Given the description of an element on the screen output the (x, y) to click on. 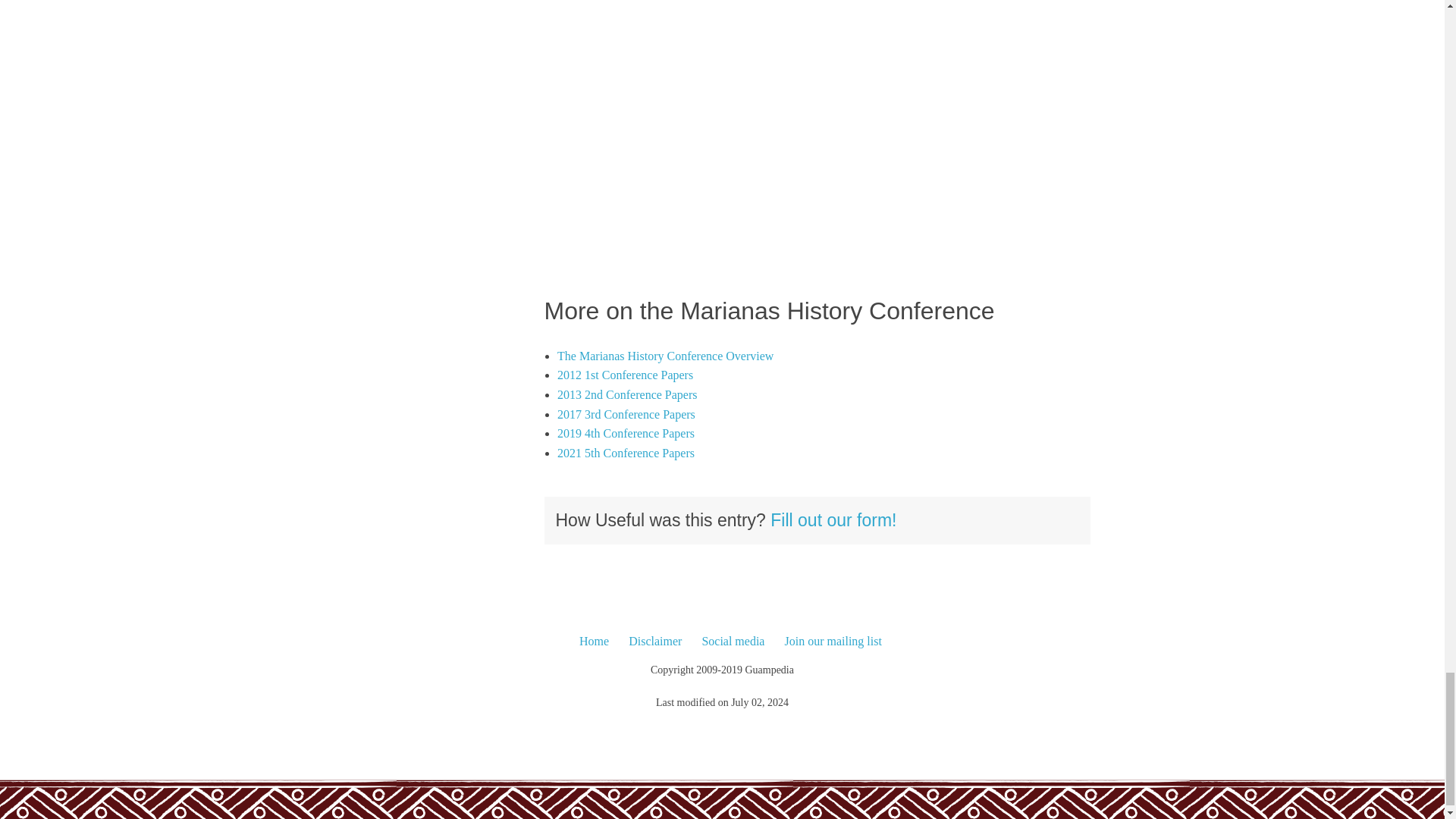
The Marianas History Conference Overview (665, 355)
Home (593, 641)
Join our mailing list (832, 641)
2017 3rd Conference Papers (626, 413)
Social media (732, 641)
2021 5th Conference Papers (625, 452)
2019 4th Conference Papers (625, 432)
Fill out our form! (833, 519)
2013 2nd Conference Papers (627, 394)
Disclaimer (654, 641)
